Given the description of an element on the screen output the (x, y) to click on. 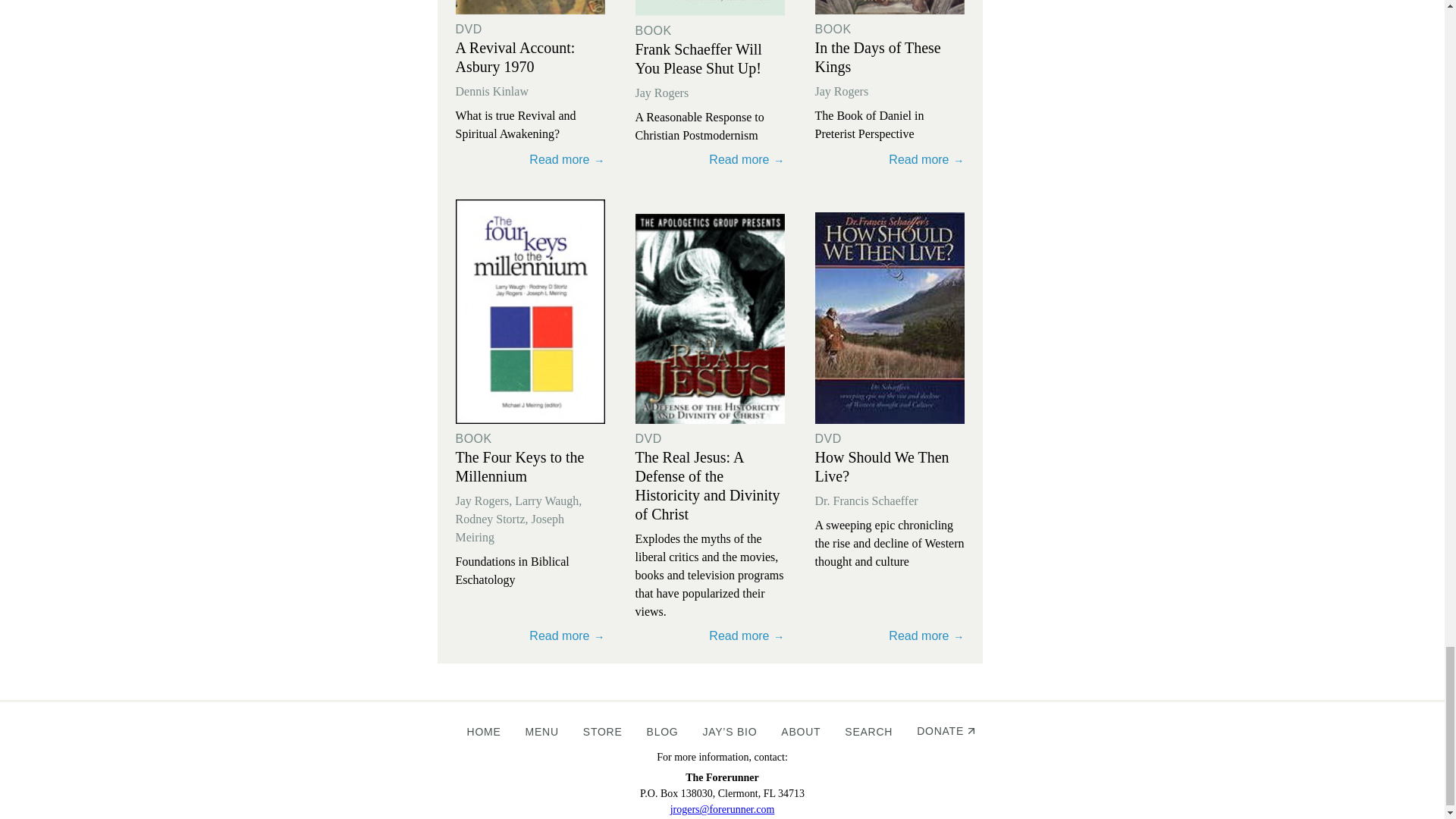
Frank Schaeffer Will You Please Shut Up! (697, 58)
How Should We Then Live? (881, 466)
Read more (529, 633)
Read more (709, 156)
Read more (888, 156)
Read more (529, 156)
Read more (709, 7)
A Revival Account: Asbury 1970 (514, 57)
Read more (709, 633)
Read more (709, 156)
Read more (529, 633)
Read more (888, 156)
In the Days of These Kings (876, 57)
Read more (529, 7)
